Given the description of an element on the screen output the (x, y) to click on. 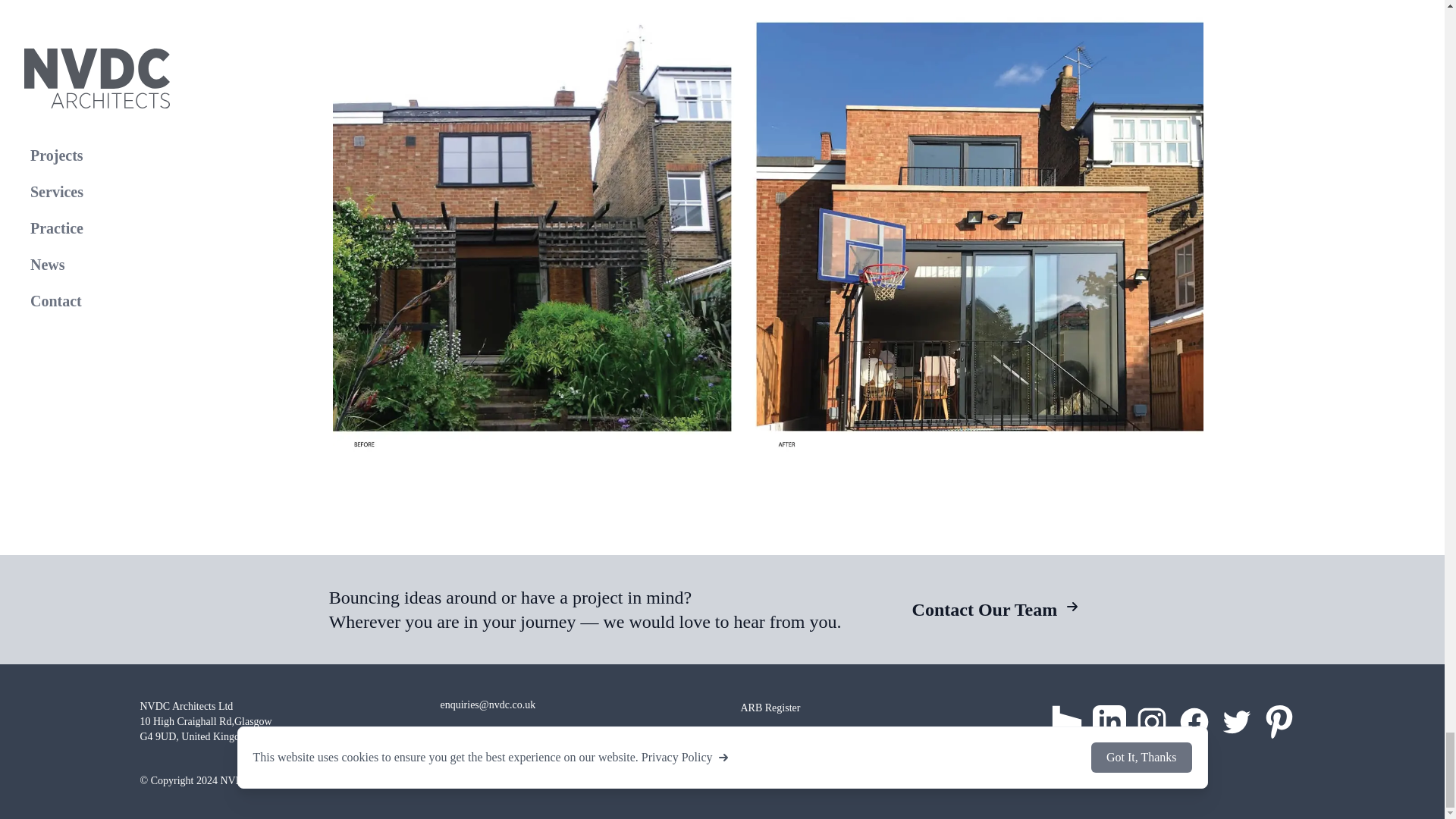
Houzz (1066, 721)
Twitter (1236, 721)
Facebook (1192, 721)
LinkedIn (1108, 721)
Pinterest (1278, 721)
Instagram (1150, 721)
